Given the description of an element on the screen output the (x, y) to click on. 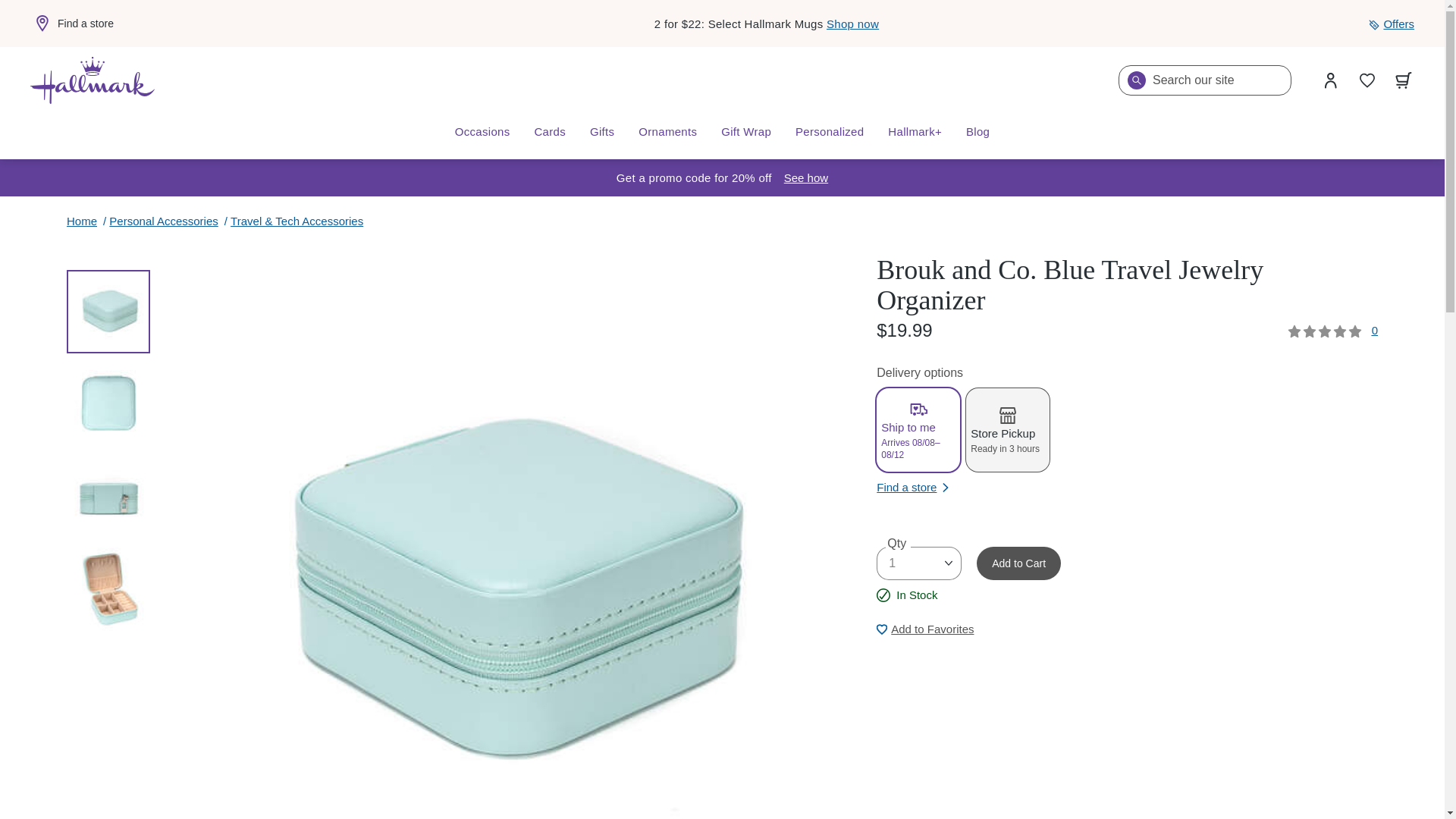
Shop now (853, 22)
View your cart (1404, 80)
Open shipping dates modal (806, 177)
Offers (1390, 23)
Find a store (71, 23)
Home page (92, 80)
Wish List (1367, 80)
Search (1135, 80)
